Given the description of an element on the screen output the (x, y) to click on. 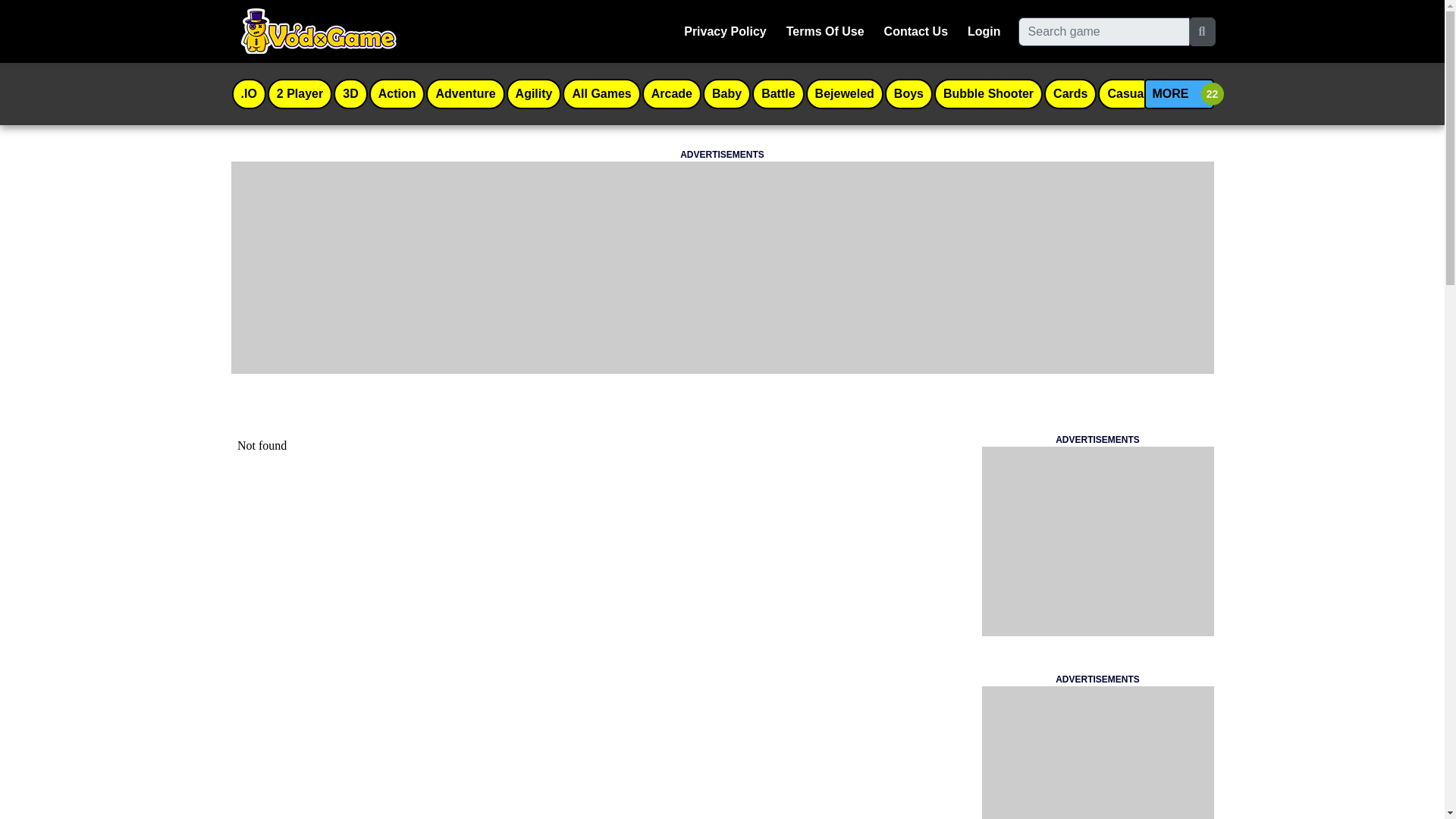
Cards (1070, 93)
2 Player (299, 93)
Bubble Shooter (988, 93)
Terms Of Use (825, 31)
Agility (533, 93)
Privacy Policy (725, 31)
Advertisement (1096, 541)
Boys (908, 93)
Arcade (671, 93)
Casual (1126, 93)
.IO (248, 93)
Bejeweled (844, 93)
Adventure (465, 93)
MORE (1177, 93)
Baby (726, 93)
